Given the description of an element on the screen output the (x, y) to click on. 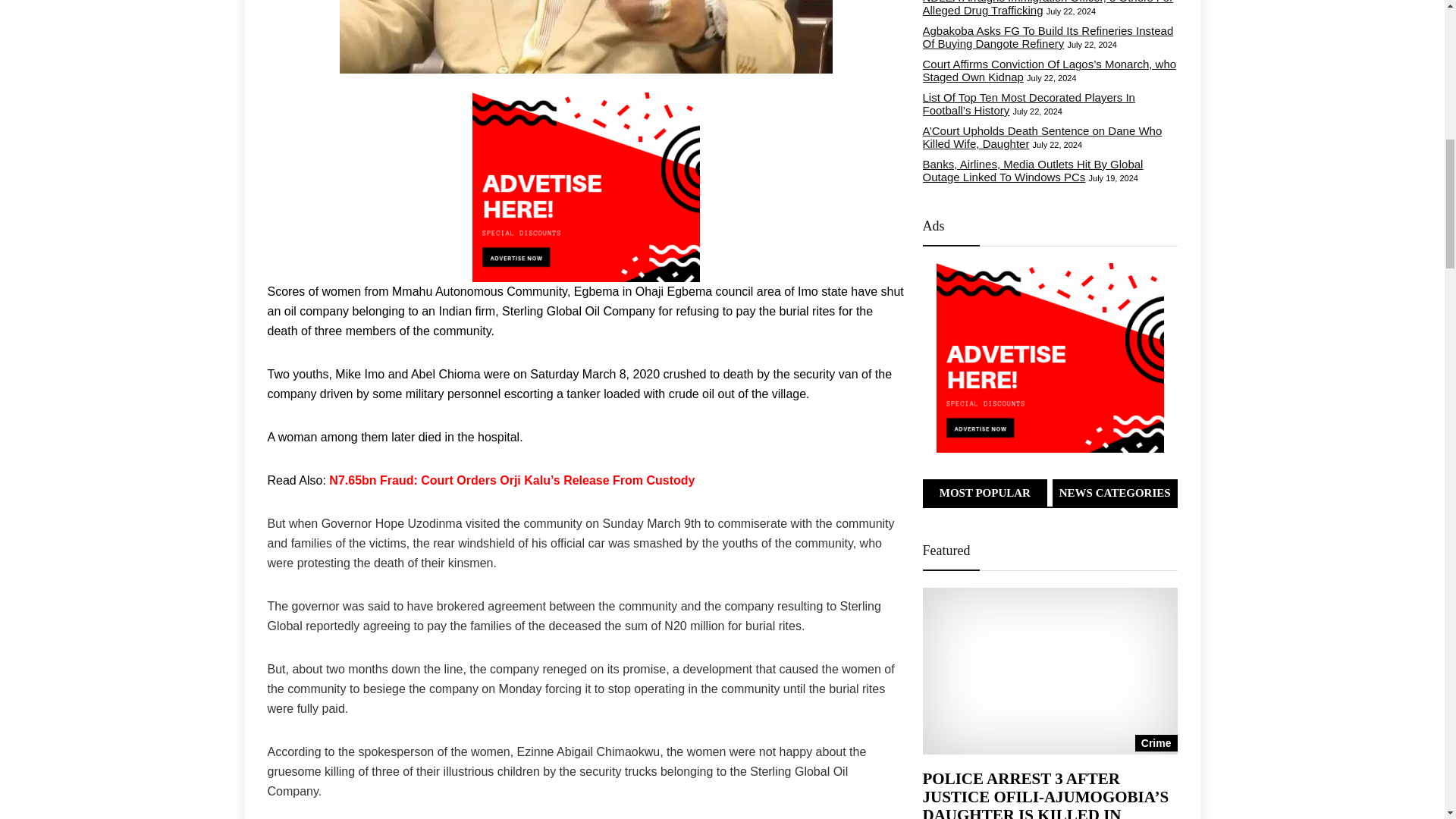
Read Also: (297, 480)
